Given the description of an element on the screen output the (x, y) to click on. 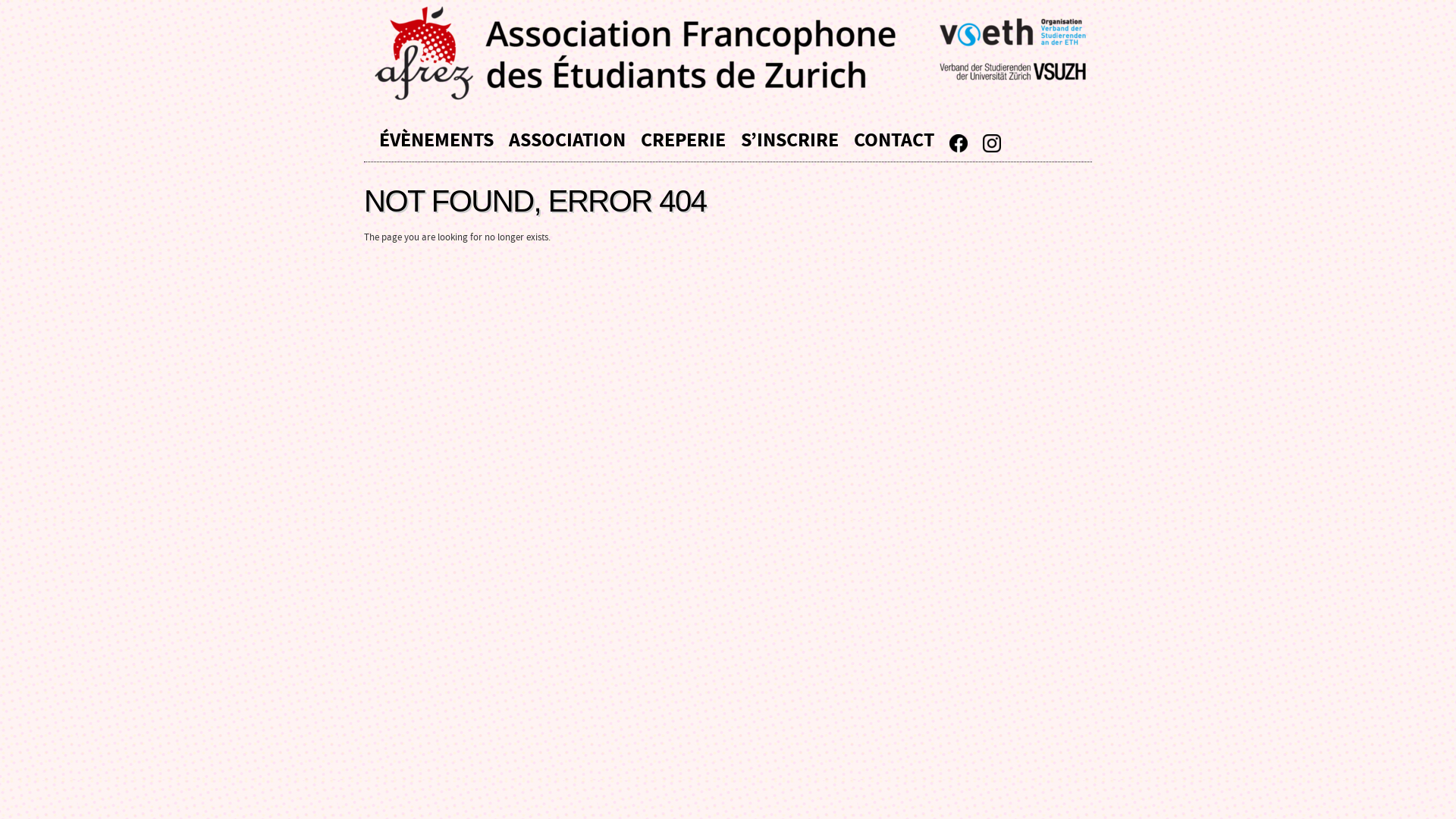
L'AFREZ Element type: text (735, 53)
CREPERIE Element type: text (683, 138)
ASSOCIATION Element type: text (567, 138)
CONTACT Element type: text (893, 138)
